Given the description of an element on the screen output the (x, y) to click on. 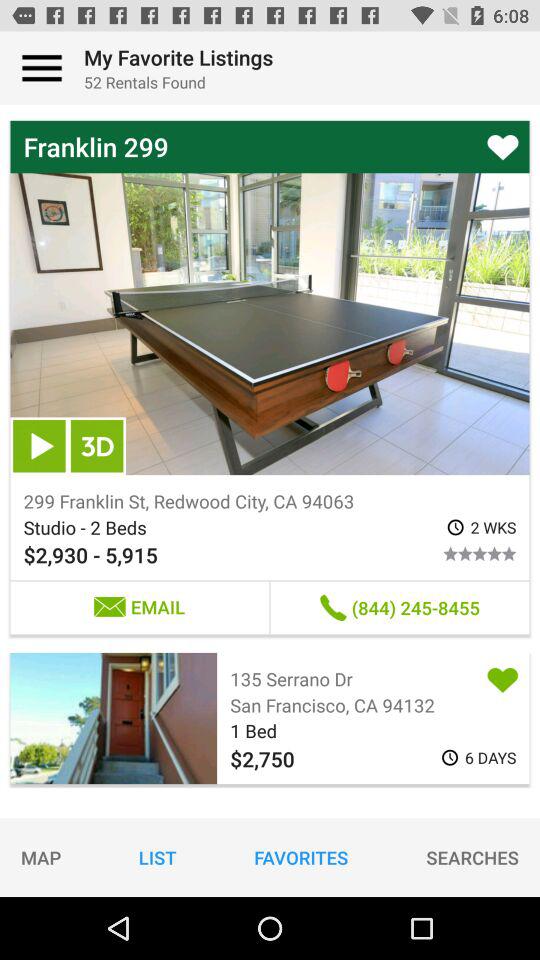
more options (41, 68)
